Given the description of an element on the screen output the (x, y) to click on. 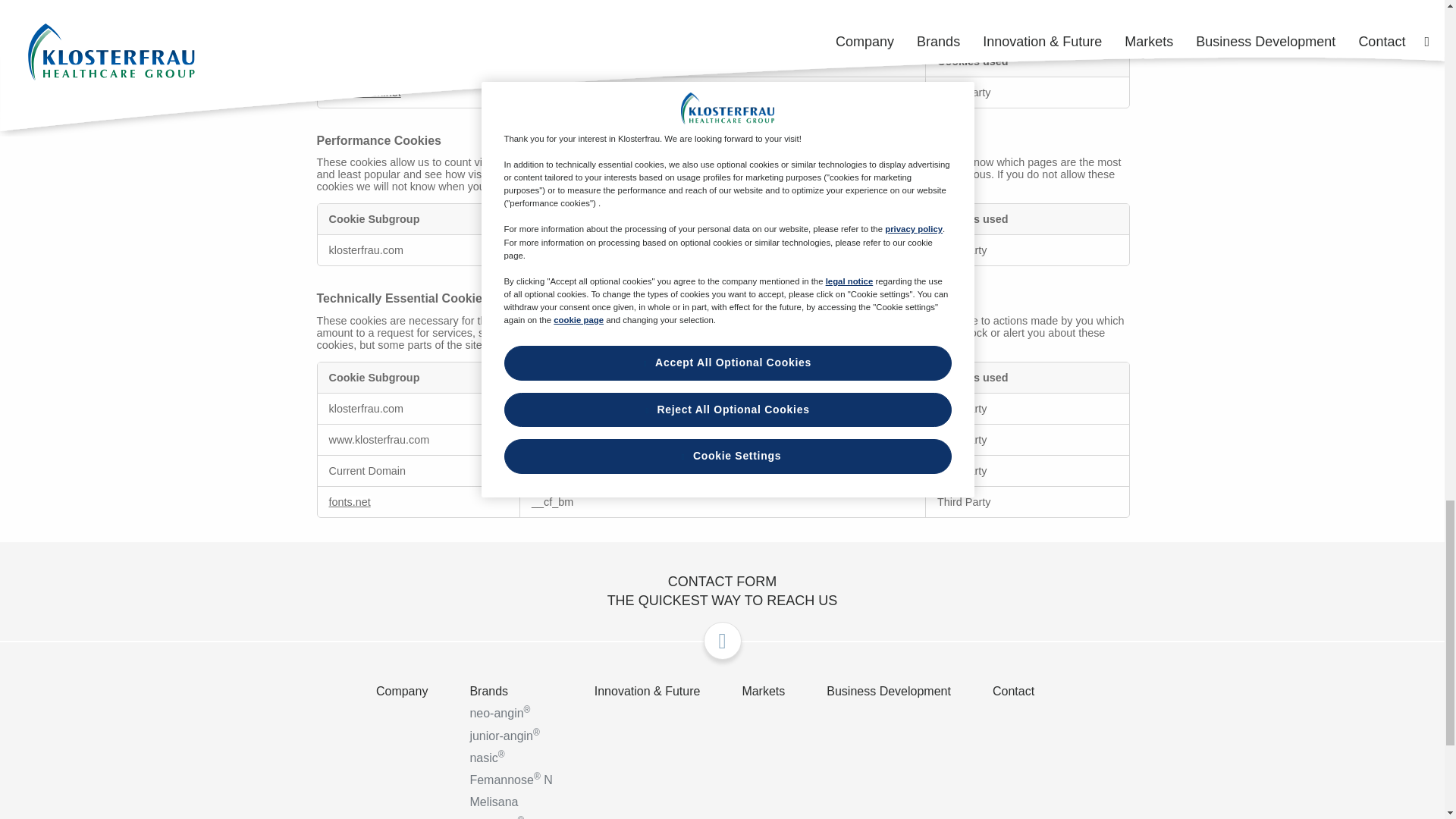
dwsid (680, 470)
Melisana (527, 802)
Company (418, 690)
fonts.net (350, 501)
doubleclick.net (365, 92)
Brands (527, 690)
OptanonAlertBoxClosed (590, 439)
OptanonConsent (698, 439)
